Given the description of an element on the screen output the (x, y) to click on. 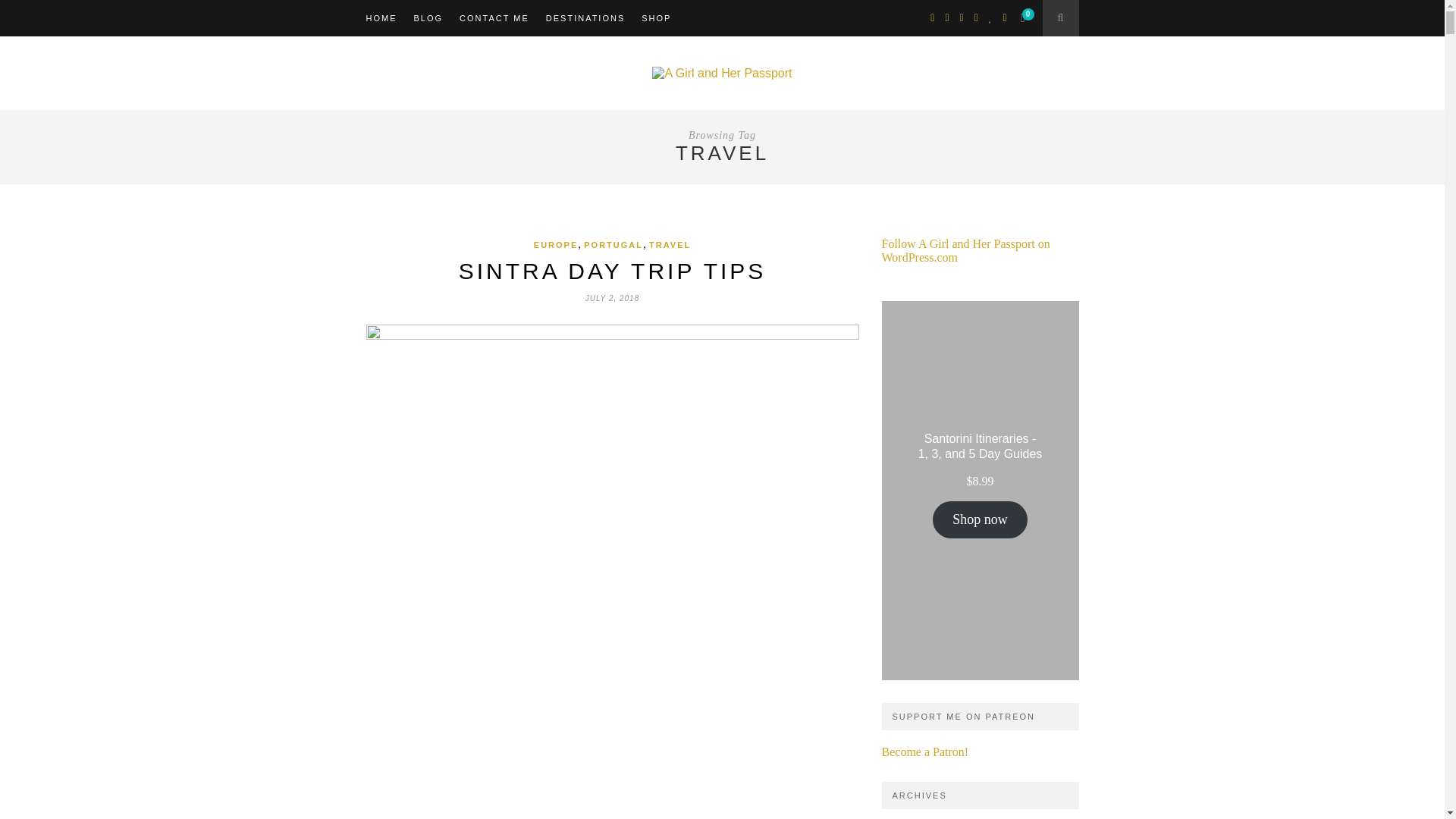
DESTINATIONS (585, 18)
View all posts in Travel (669, 244)
SINTRA DAY TRIP TIPS (612, 270)
PORTUGAL (613, 244)
View all posts in Europe (556, 244)
EUROPE (556, 244)
CONTACT ME (494, 18)
TRAVEL (669, 244)
View all posts in Portugal (613, 244)
